Given the description of an element on the screen output the (x, y) to click on. 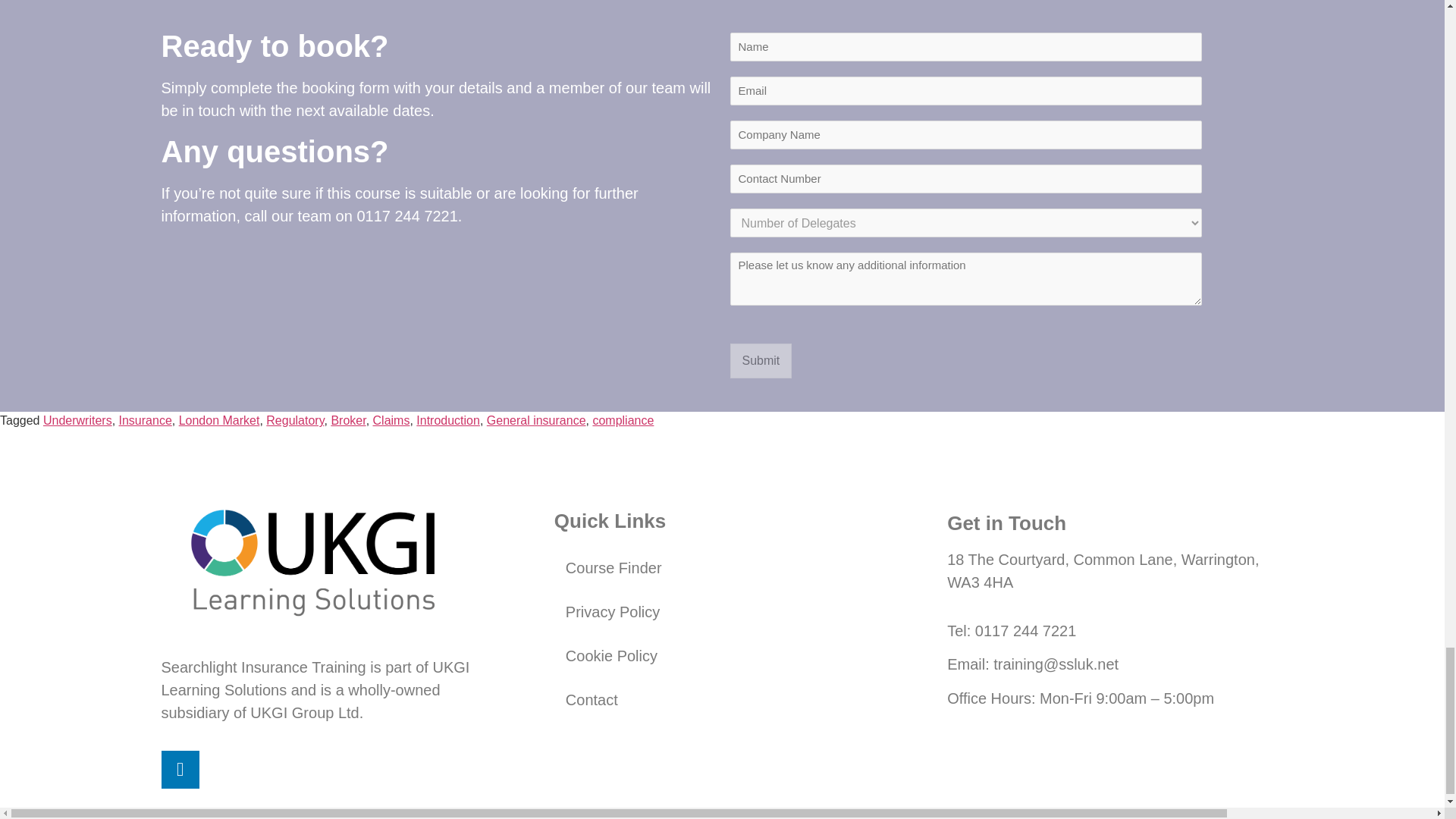
Course Finder (721, 567)
Privacy Policy (721, 611)
London Market (219, 420)
Broker (347, 420)
Submit (760, 360)
Cookie Policy (721, 655)
Underwriters (77, 420)
Introduction (448, 420)
compliance (622, 420)
Regulatory (294, 420)
General insurance (536, 420)
Claims (391, 420)
Insurance (145, 420)
Contact (721, 699)
